Given the description of an element on the screen output the (x, y) to click on. 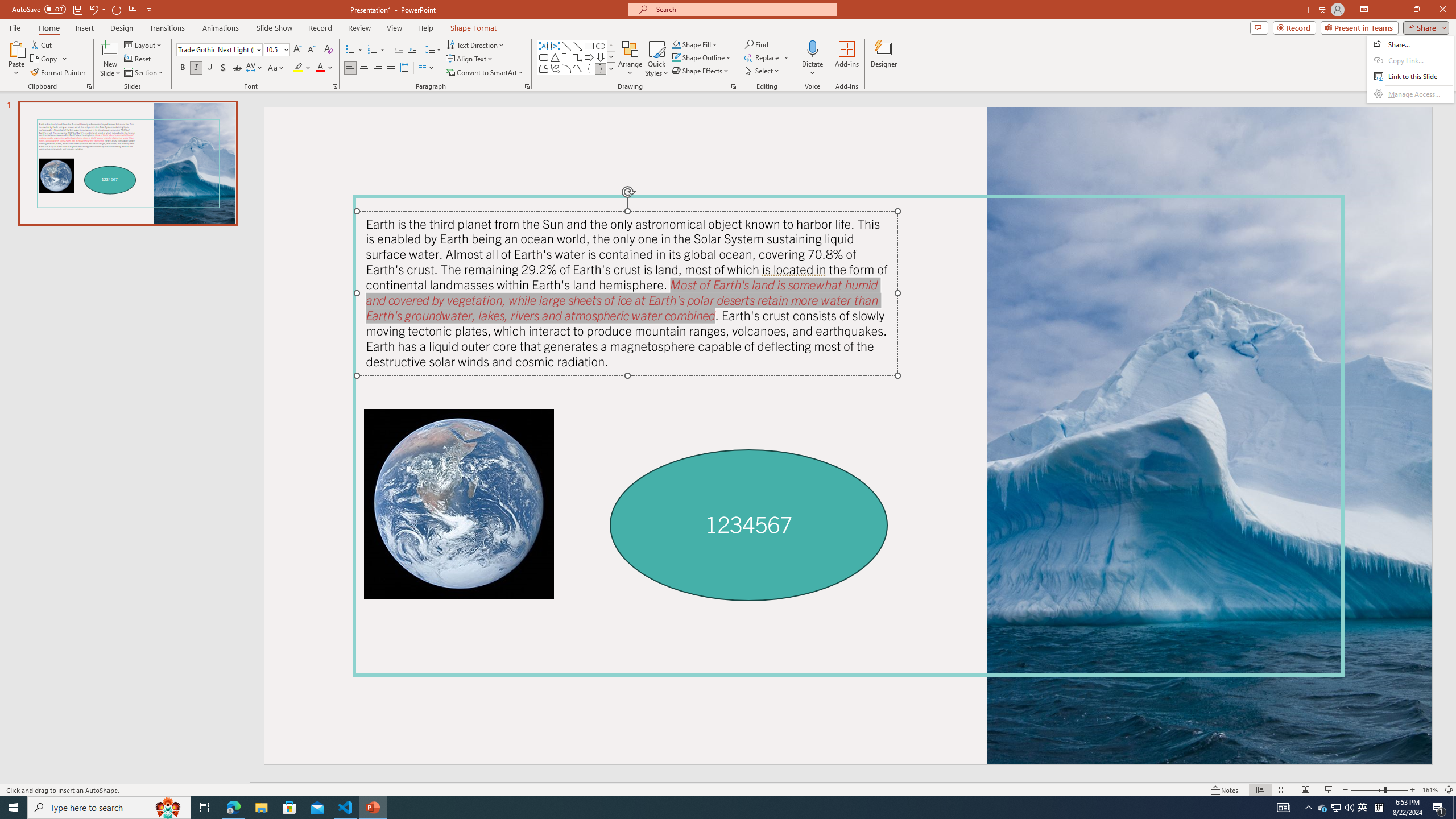
Zoom 161% (1430, 790)
Shape Fill Aqua, Accent 2 (675, 44)
